Given the description of an element on the screen output the (x, y) to click on. 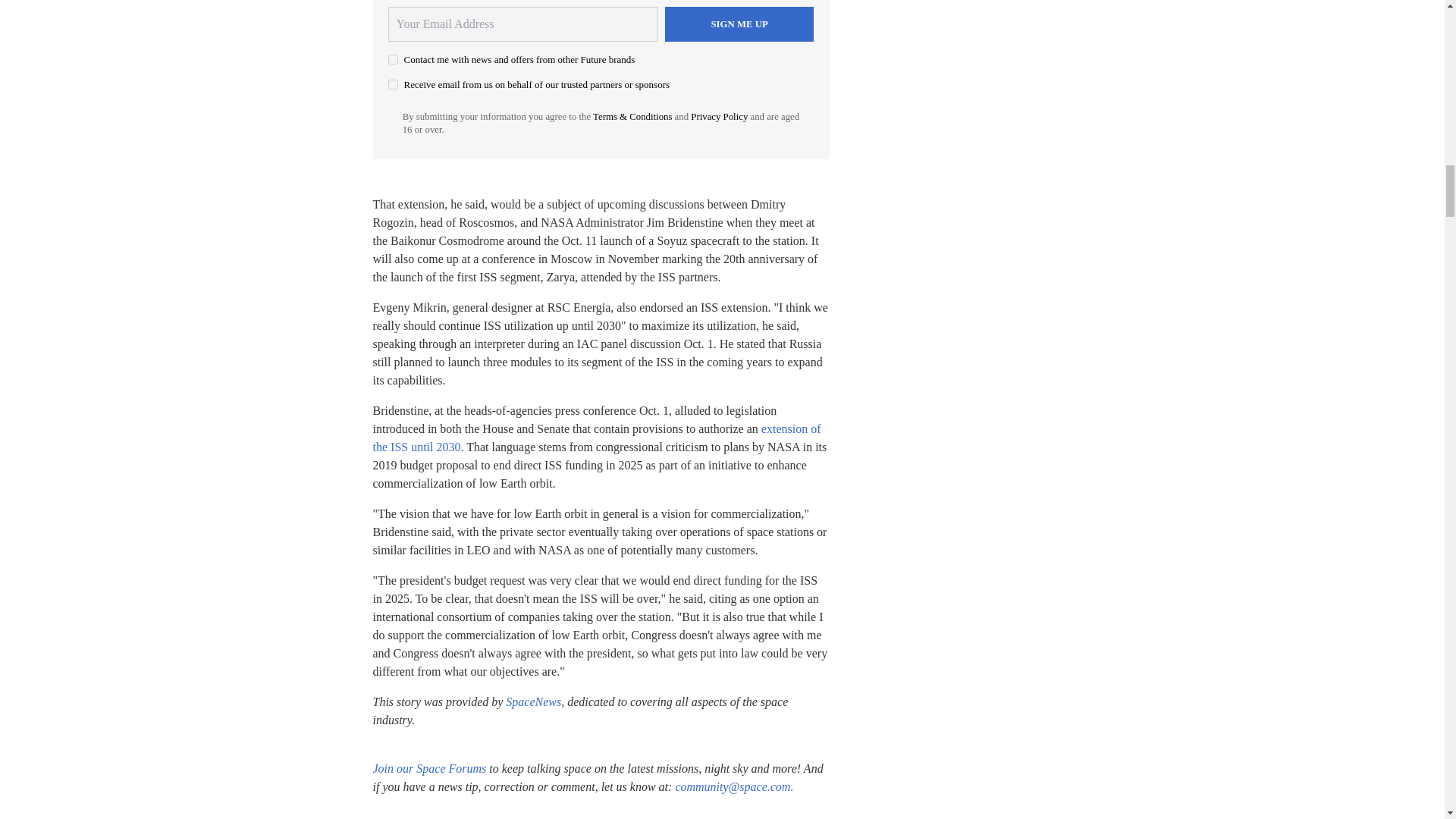
Sign me up (739, 23)
on (392, 59)
on (392, 84)
